Given the description of an element on the screen output the (x, y) to click on. 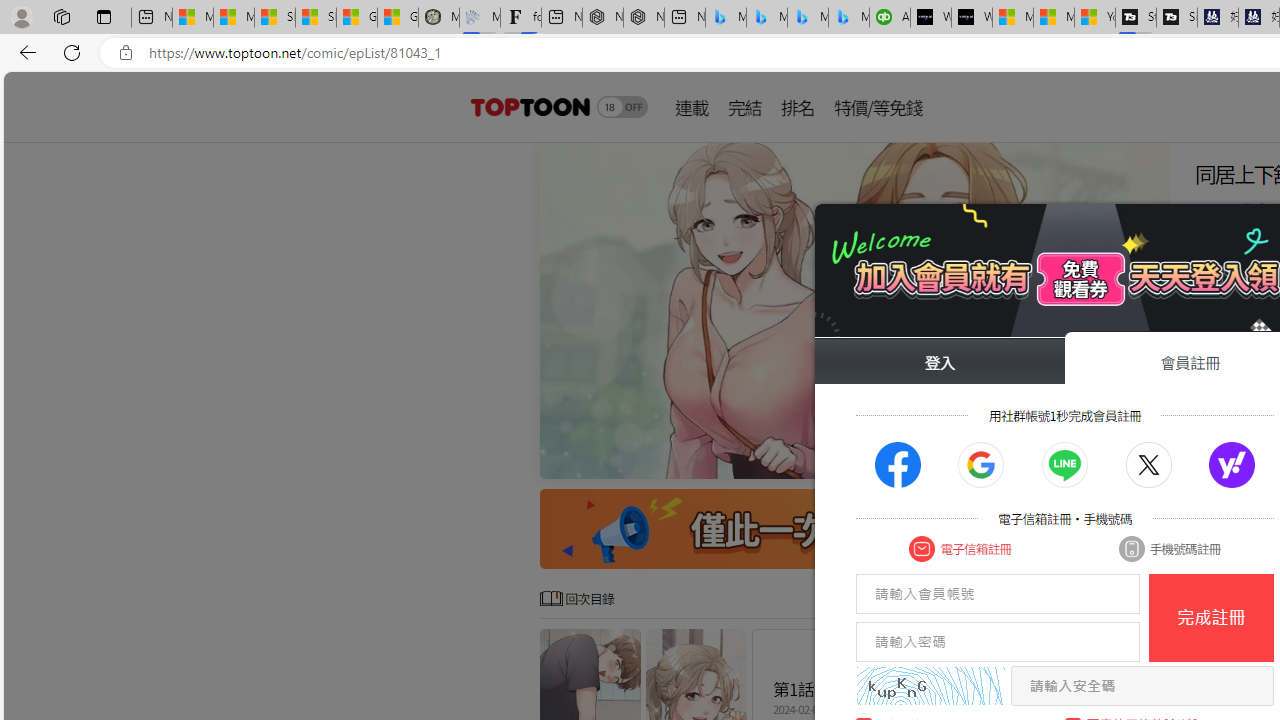
Microsoft Bing Travel - Stays in Bangkok, Bangkok, Thailand (767, 17)
New tab (684, 17)
